Given the description of an element on the screen output the (x, y) to click on. 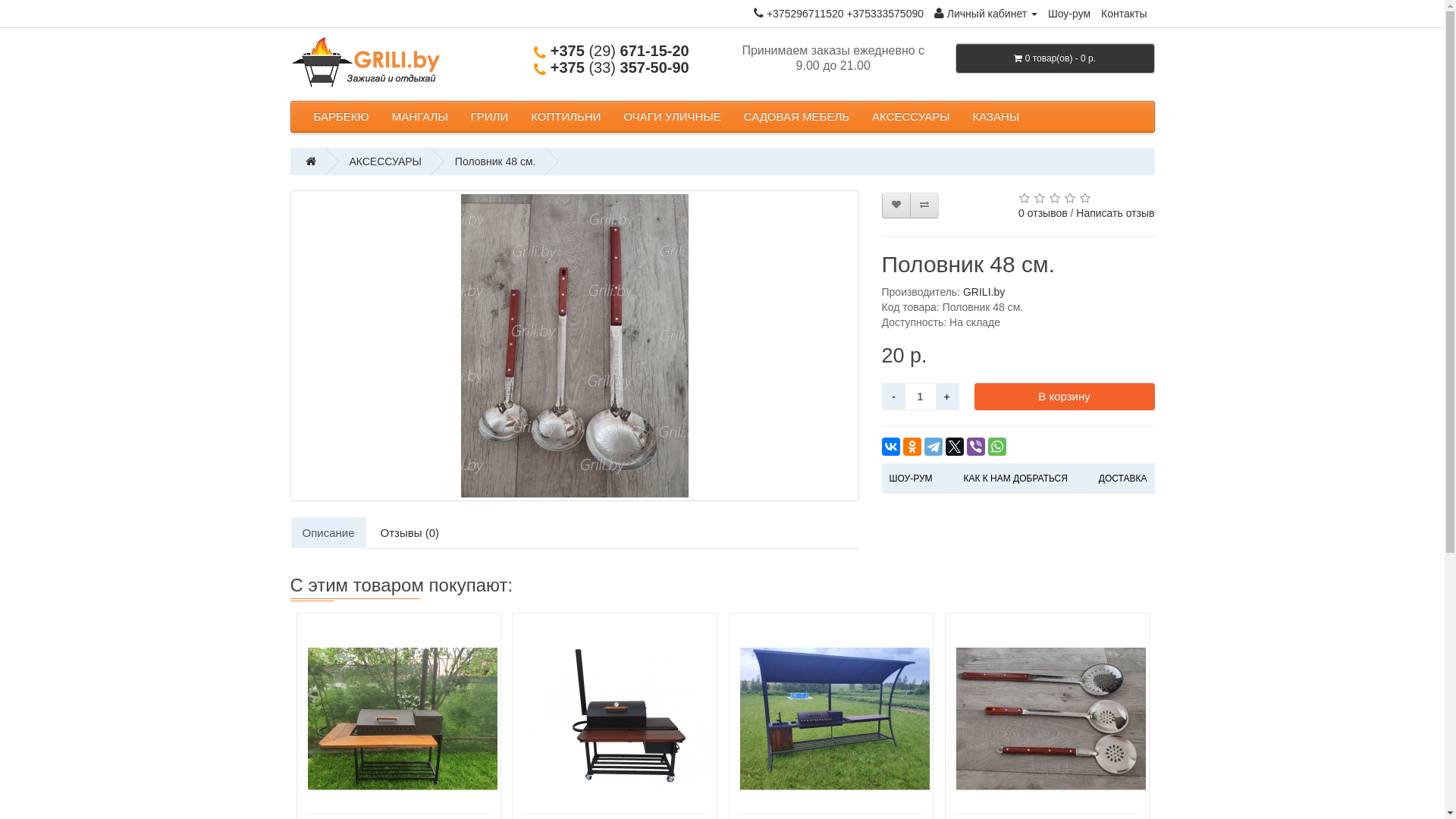
+375 (29) 671-15-20 Element type: text (611, 50)
Twitter Element type: hover (953, 446)
WhatsApp Element type: hover (996, 446)
Telegram Element type: hover (932, 446)
GRILI.by Element type: text (983, 291)
+375 (33) 357-50-90 Element type: text (611, 67)
Viber Element type: hover (975, 446)
